Given the description of an element on the screen output the (x, y) to click on. 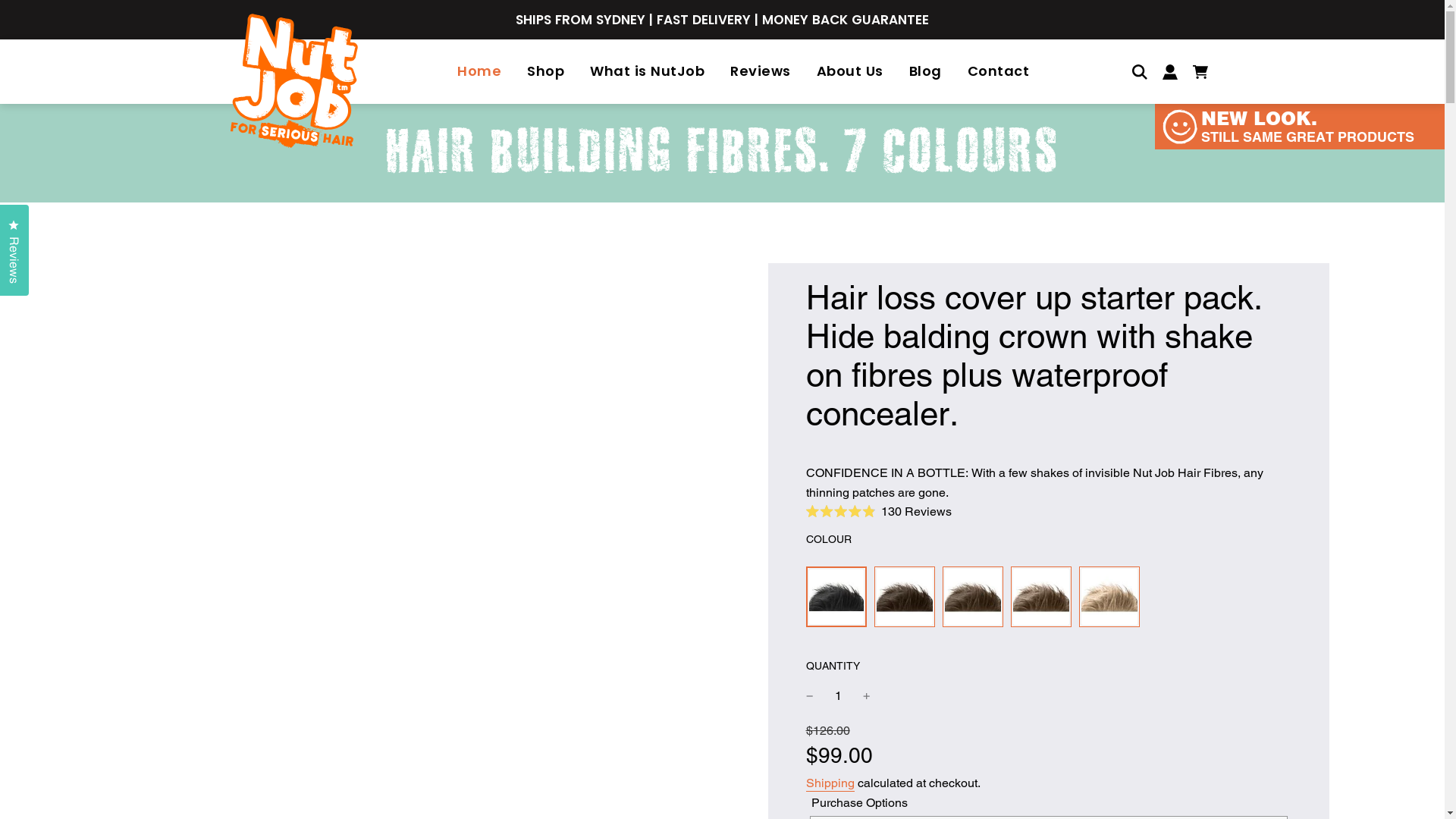
Reviews Element type: text (760, 71)
About Us Element type: text (849, 71)
Shop Element type: text (545, 71)
What is NutJob Element type: text (646, 71)
Contact Element type: text (997, 71)
Shipping Element type: text (829, 783)
Home Element type: text (478, 71)
Log in Element type: hover (1169, 71)
Blog Element type: text (925, 71)
